Given the description of an element on the screen output the (x, y) to click on. 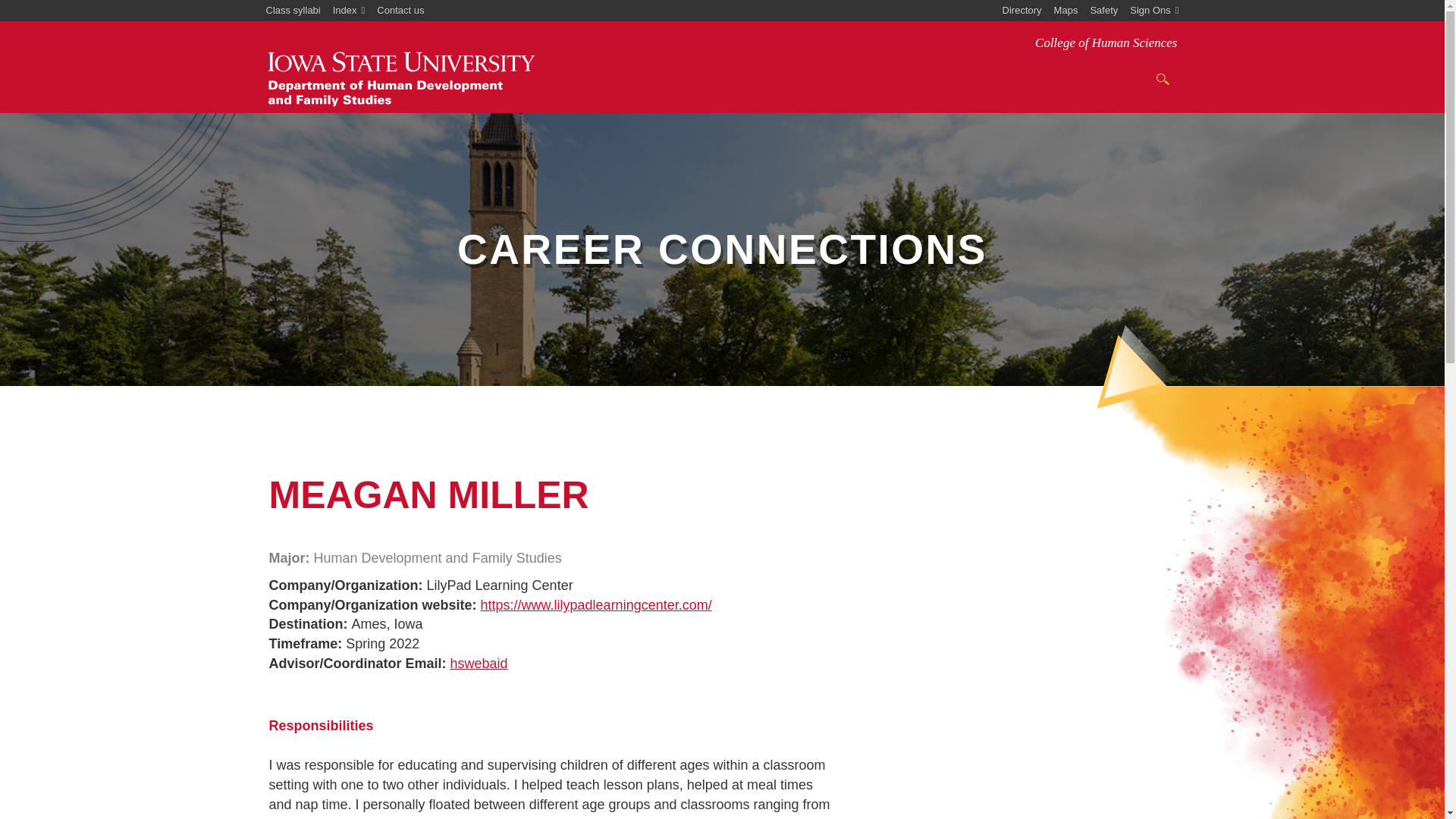
Contact us (400, 10)
Index (348, 10)
Sign Ons (1154, 10)
Maps (1066, 10)
Directory (1021, 10)
Class syllabi (292, 10)
Safety (1103, 10)
